Given the description of an element on the screen output the (x, y) to click on. 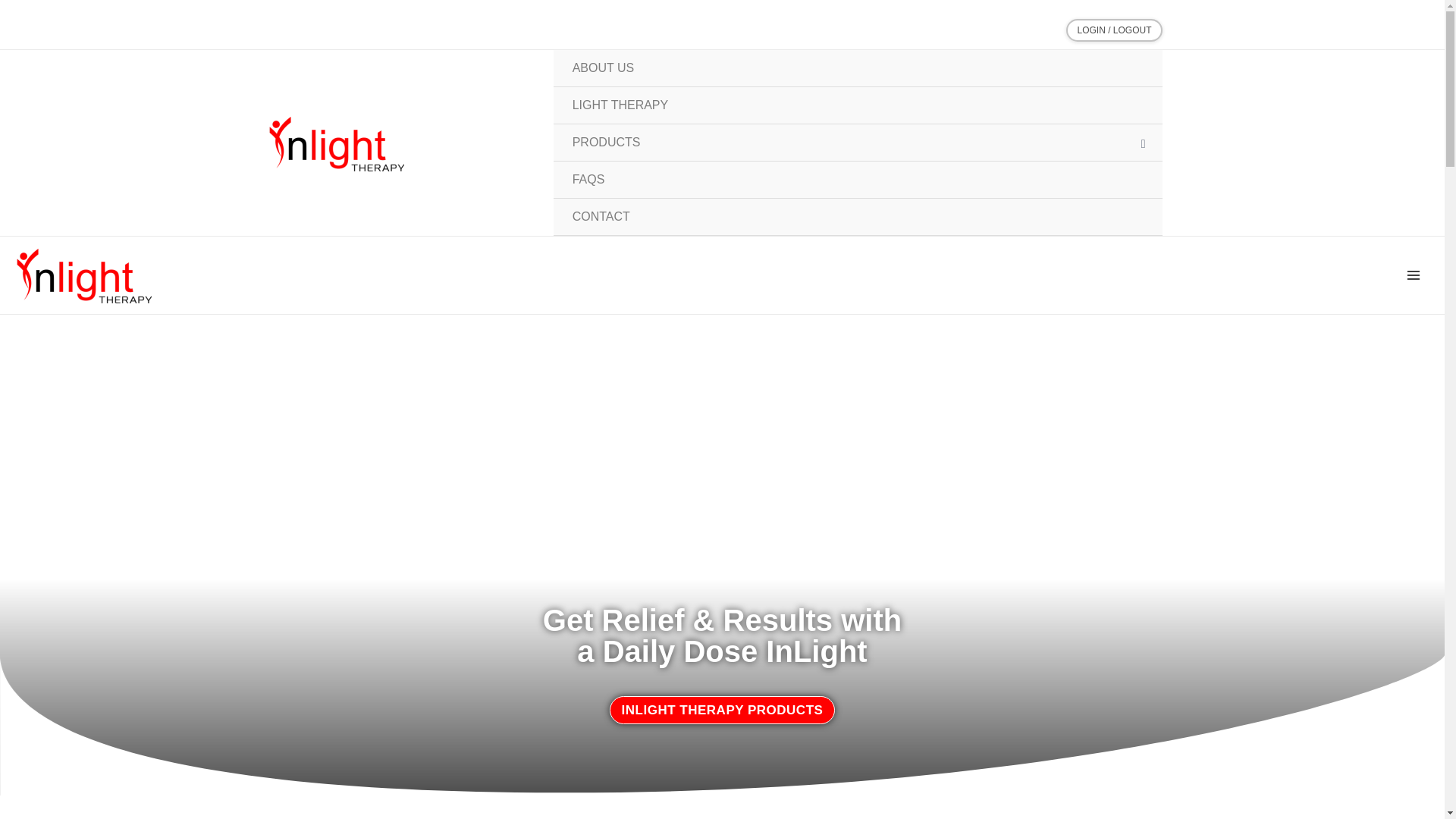
PRODUCTS (857, 142)
FAQS (857, 180)
LIGHT THERAPY (857, 105)
CONTACT (857, 217)
ABOUT US (857, 67)
Main Menu (1413, 275)
